Given the description of an element on the screen output the (x, y) to click on. 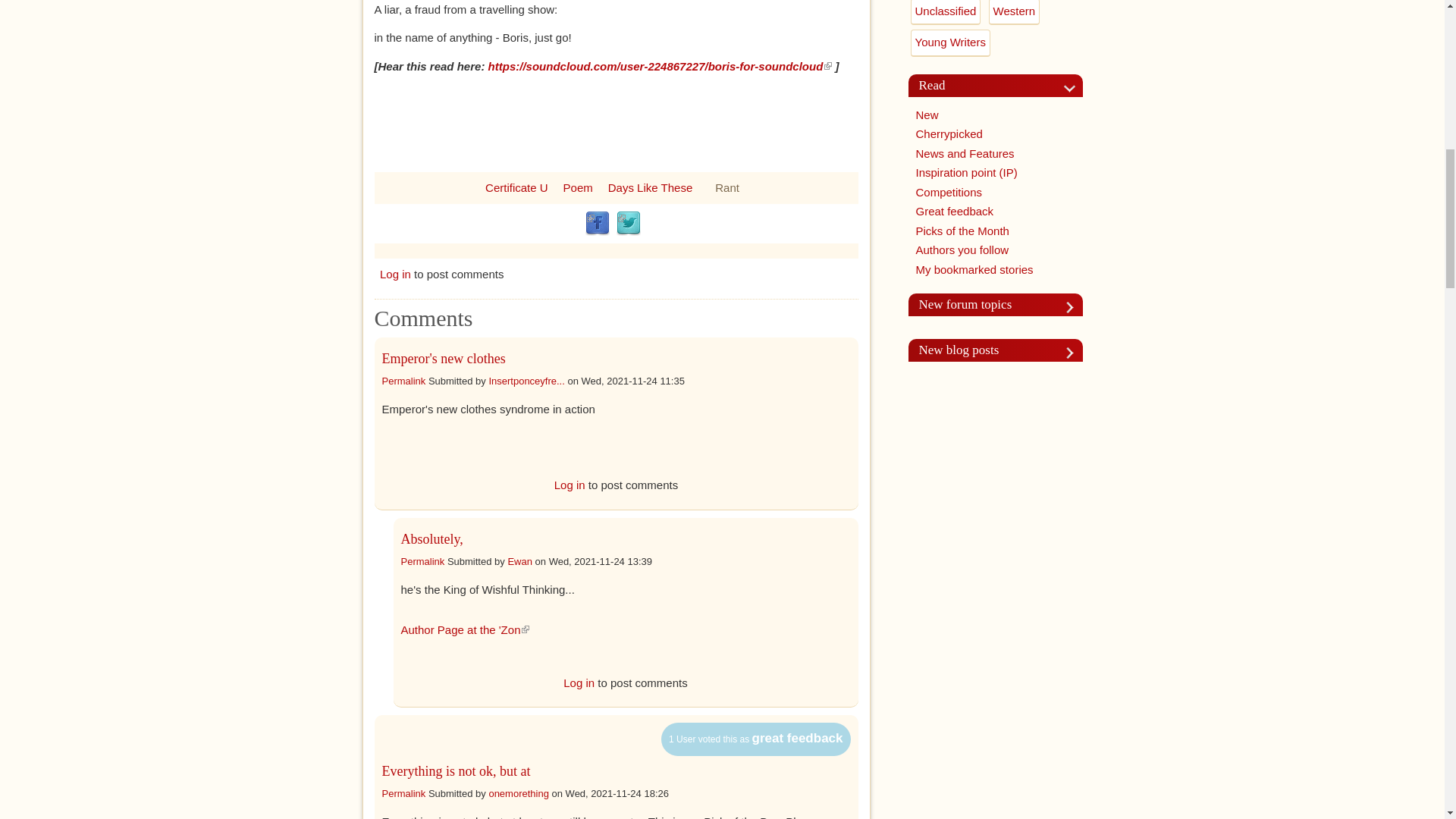
View user profile. (525, 379)
Twitter (627, 223)
Rant (726, 186)
Poem (577, 186)
Absolutely, (431, 538)
View user profile. (519, 560)
Days Like These (650, 186)
Ewan (519, 560)
Log in (569, 484)
Permalink (403, 792)
Everything is not ok, but at (456, 770)
Permalink (403, 379)
View user profile. (517, 792)
Twitter (627, 223)
Emperor's new clothes (443, 357)
